Given the description of an element on the screen output the (x, y) to click on. 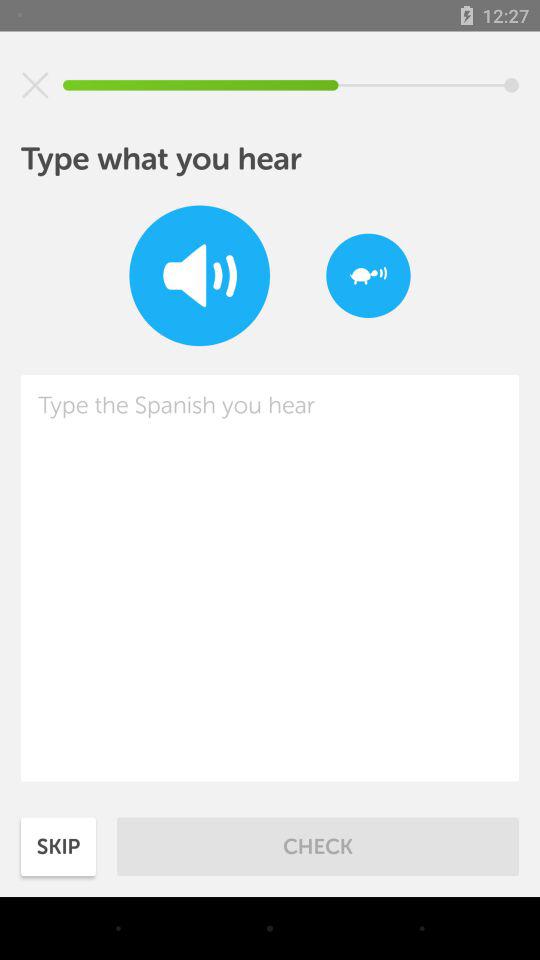
click item at the top right corner (368, 275)
